Given the description of an element on the screen output the (x, y) to click on. 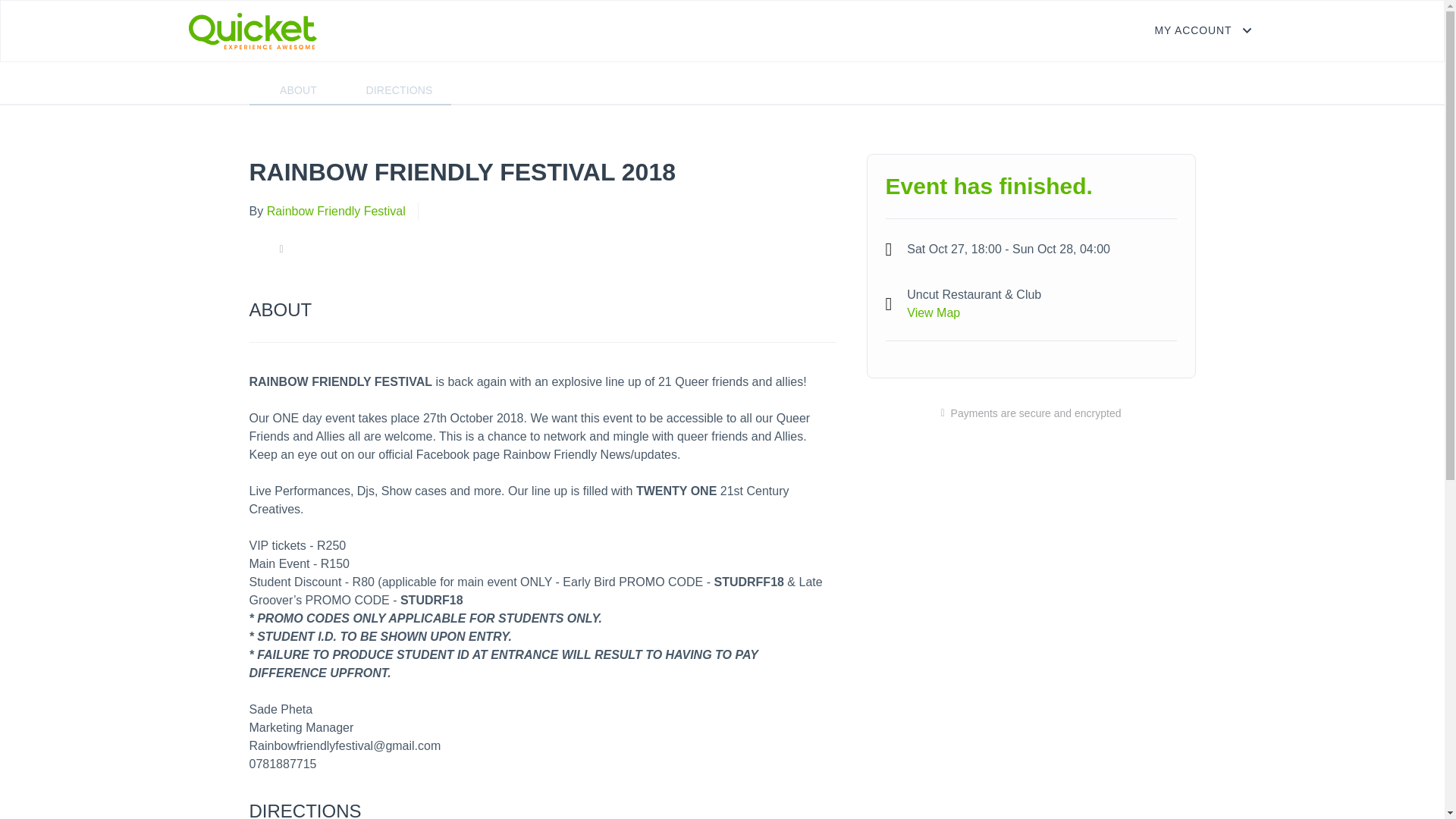
By Rainbow Friendly Festival (326, 211)
DIRECTIONS (398, 90)
0781887715 (281, 763)
ABOUT (297, 90)
View Map (933, 312)
MY ACCOUNT (1204, 30)
